Given the description of an element on the screen output the (x, y) to click on. 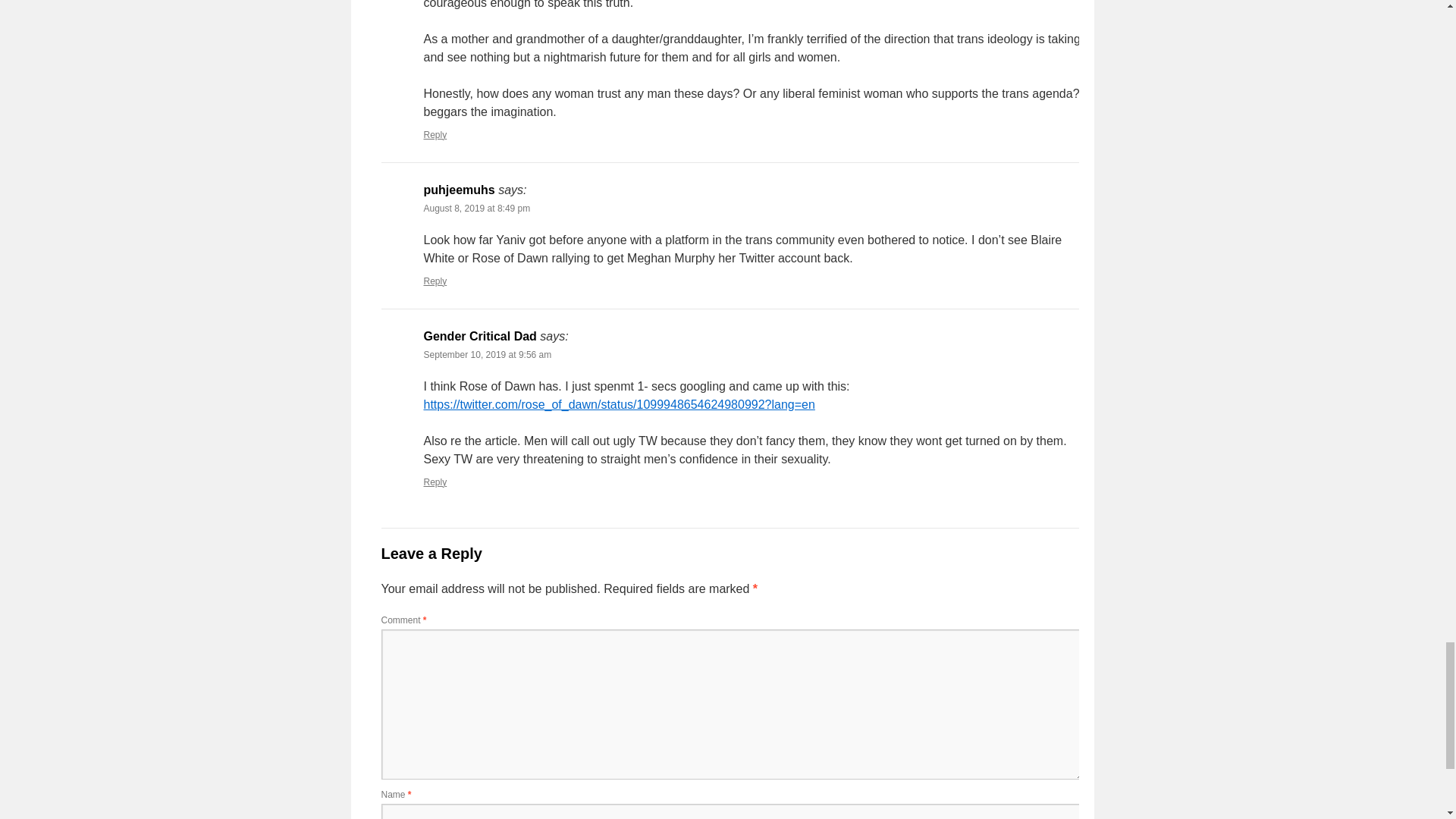
Reply (434, 481)
Reply (434, 134)
August 8, 2019 at 8:49 pm (476, 208)
September 10, 2019 at 9:56 am (487, 354)
Reply (434, 281)
